Given the description of an element on the screen output the (x, y) to click on. 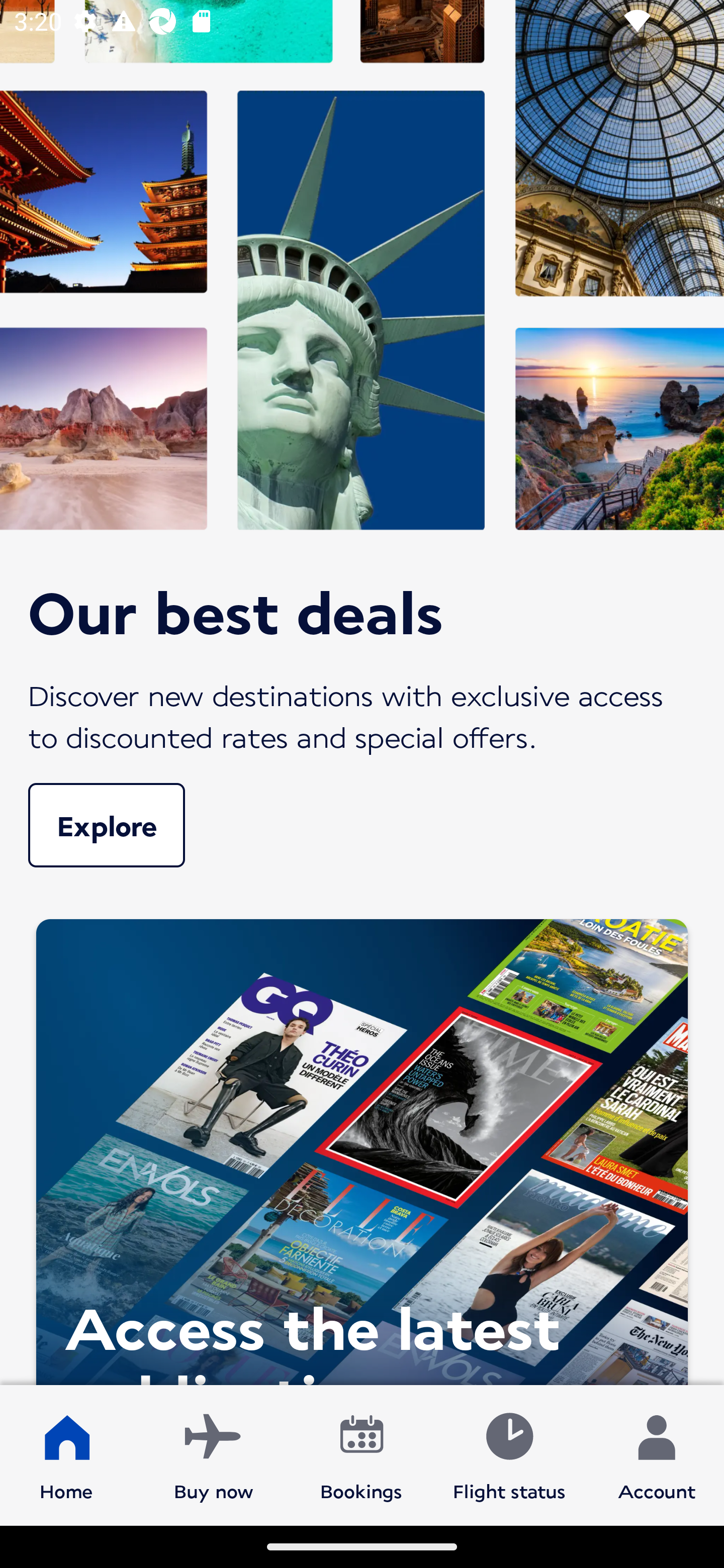
Access the latest publications (361, 1146)
Buy now (213, 1454)
Bookings (361, 1454)
Flight status (509, 1454)
Account (657, 1454)
